Given the description of an element on the screen output the (x, y) to click on. 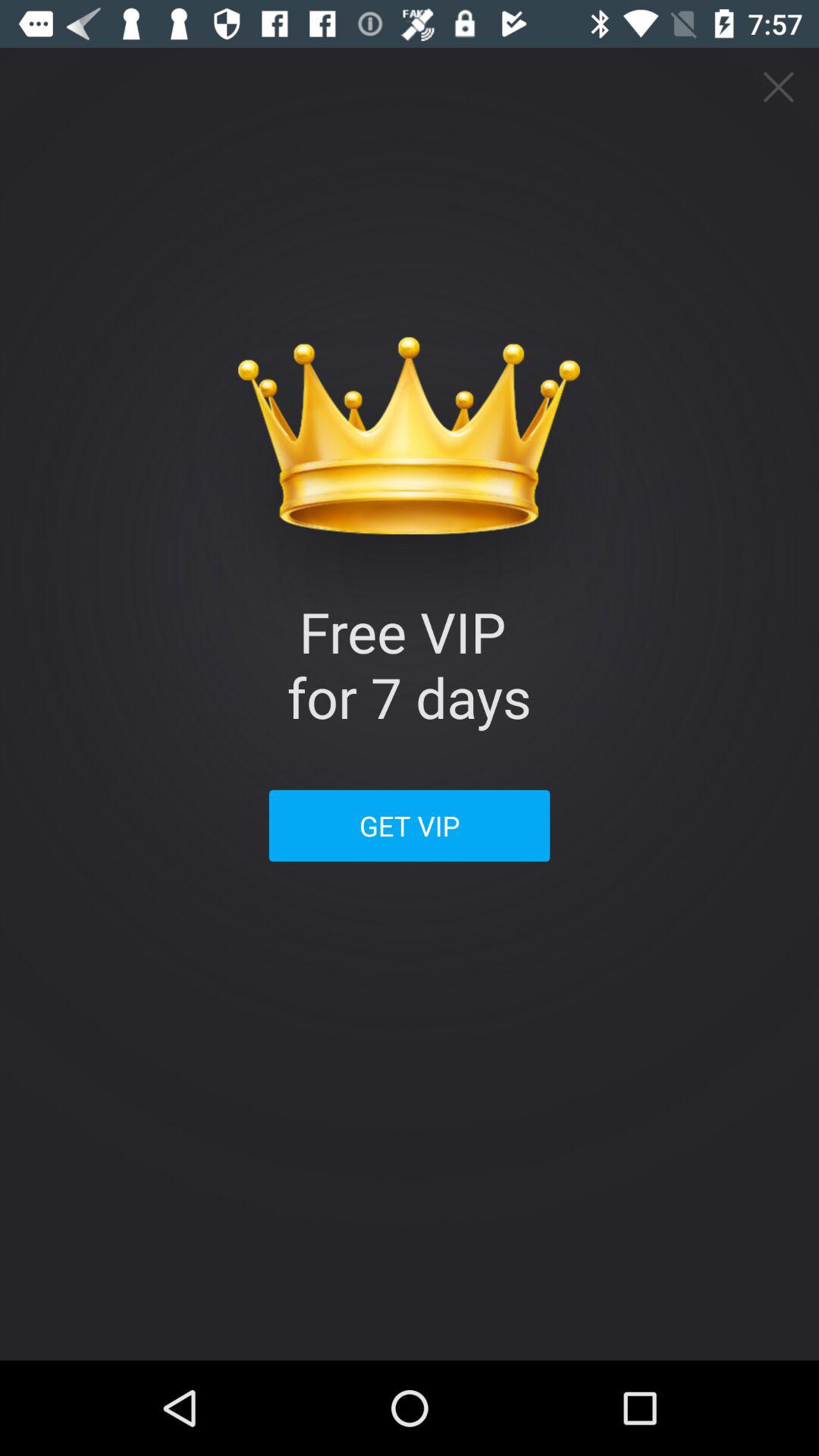
select app below free vip for (409, 825)
